Given the description of an element on the screen output the (x, y) to click on. 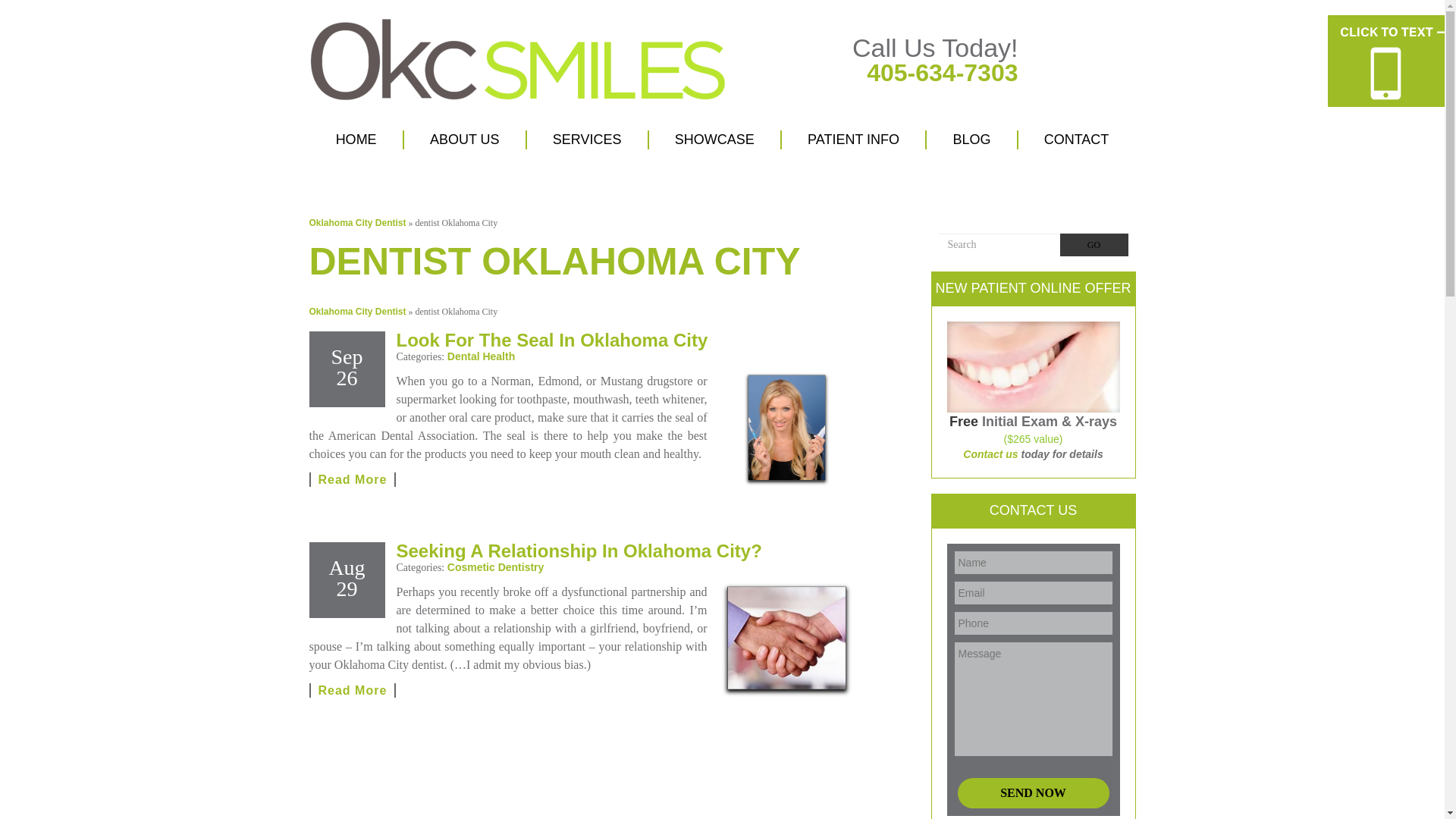
HOME (355, 139)
Seeking A Relationship In Oklahoma City? (787, 639)
Look For The Seal In Oklahoma City (787, 429)
Seeking A Relationship In Oklahoma City? (352, 690)
Send Now (1032, 793)
Look For The Seal In Oklahoma City (352, 479)
Search for: (1000, 244)
ABOUT US (464, 139)
405-634-7303 (941, 72)
SERVICES (586, 139)
